Given the description of an element on the screen output the (x, y) to click on. 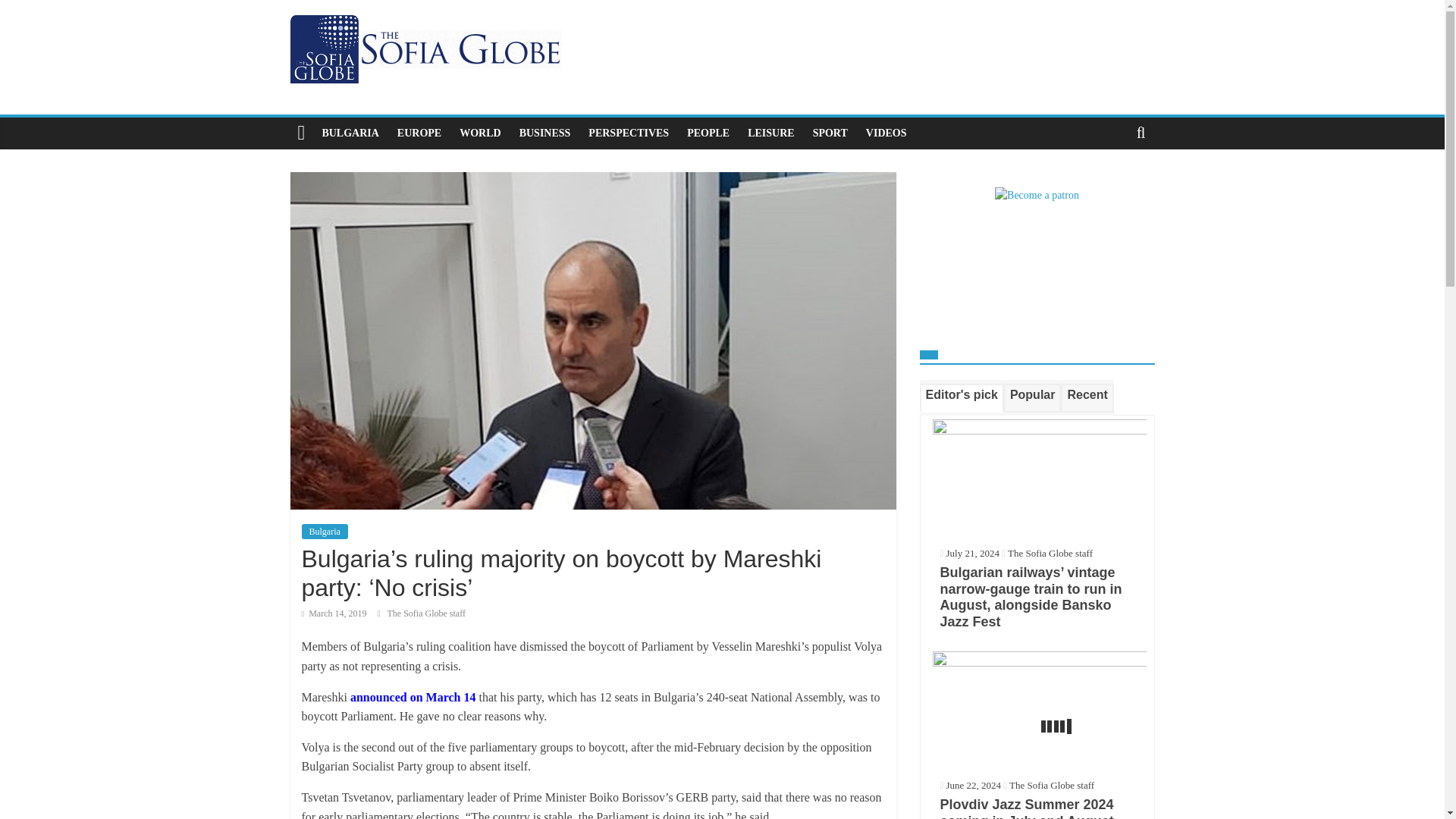
The Sofia Globe staff (426, 613)
The Sofia Globe staff (1050, 552)
Bulgaria (324, 531)
July 21, 2024 (969, 552)
LEISURE (770, 133)
BULGARIA (350, 133)
VIDEOS (886, 133)
1:20 PM (333, 613)
WORLD (479, 133)
announced on March 14 (413, 697)
EUROPE (418, 133)
March 14, 2019 (333, 613)
PEOPLE (708, 133)
PERSPECTIVES (628, 133)
SPORT (830, 133)
